Given the description of an element on the screen output the (x, y) to click on. 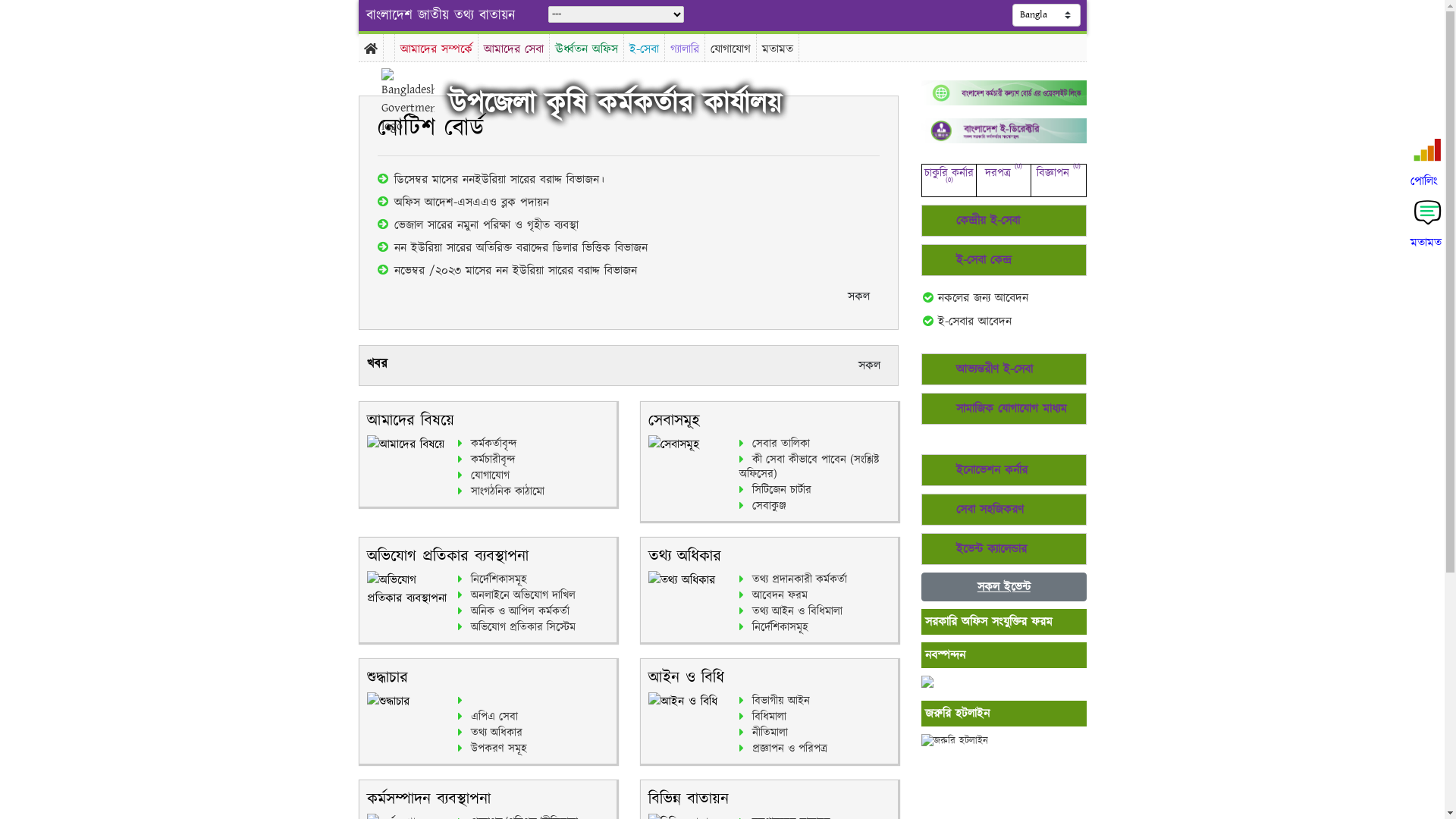

                
             Element type: hover (420, 101)
